Given the description of an element on the screen output the (x, y) to click on. 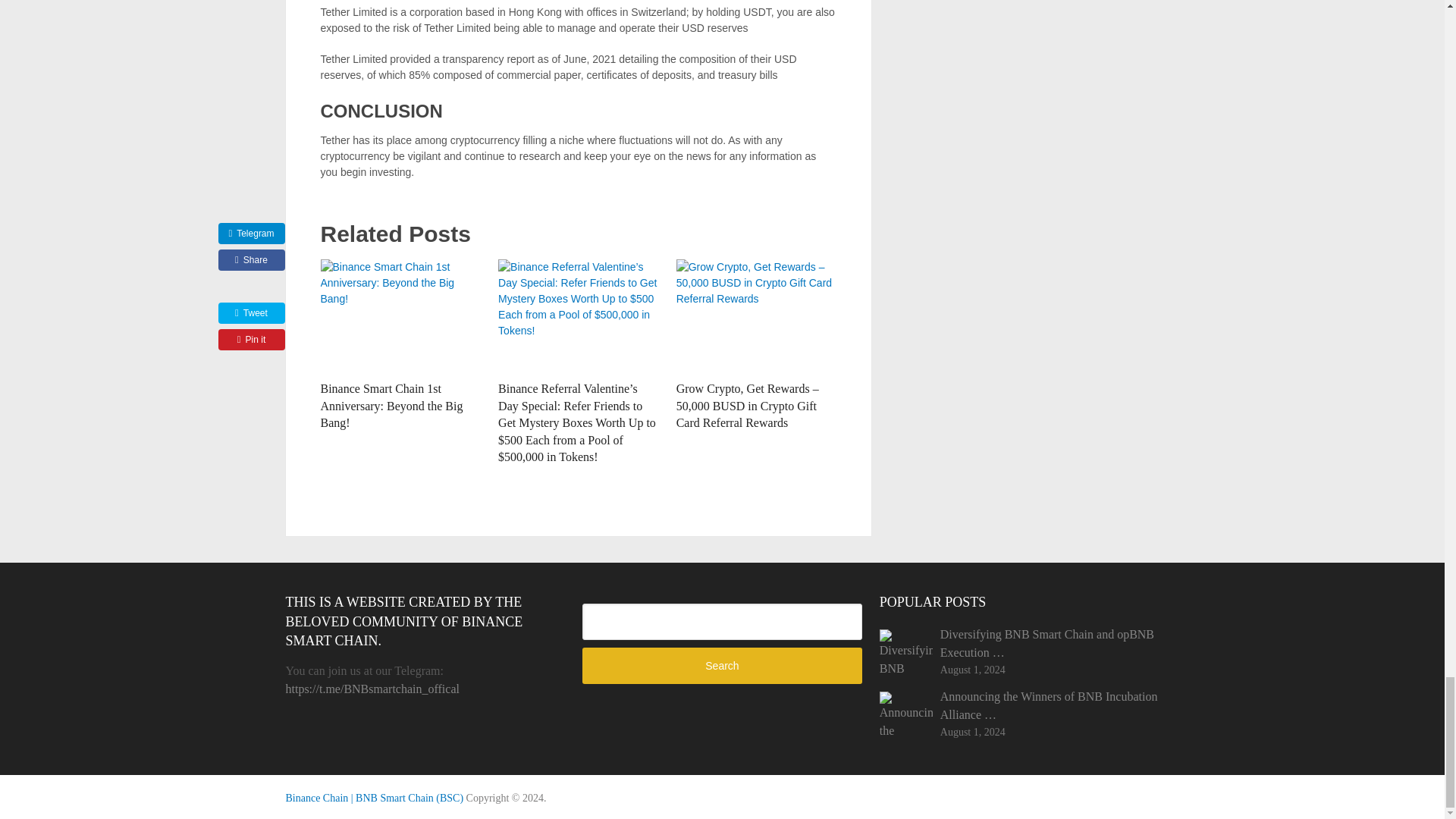
Binance Smart Chain 1st Anniversary: Beyond the Big Bang! (400, 316)
Binance Smart Chain 1st Anniversary: Beyond the Big Bang! (391, 405)
